Given the description of an element on the screen output the (x, y) to click on. 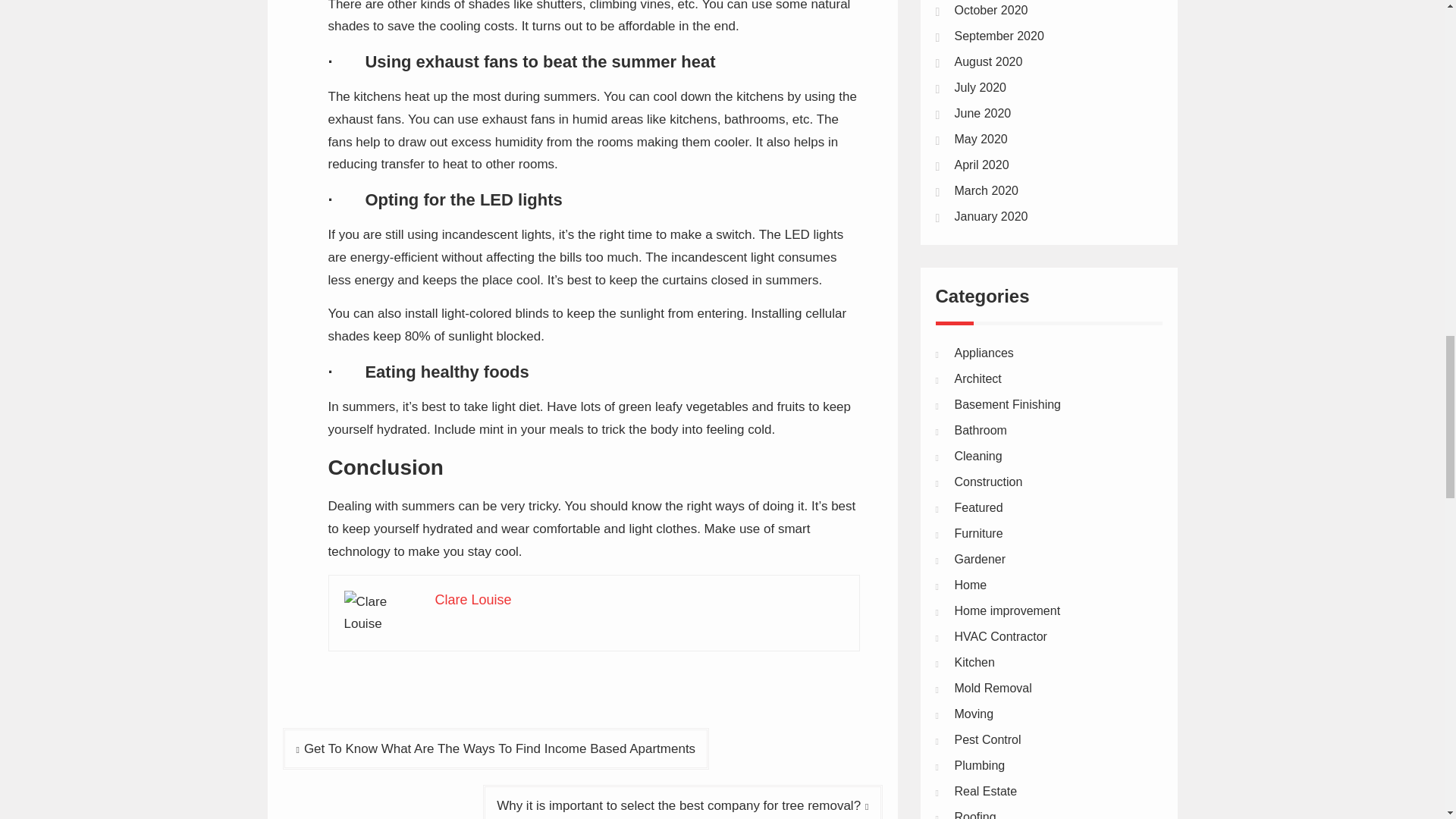
Clare Louise (473, 599)
